Given the description of an element on the screen output the (x, y) to click on. 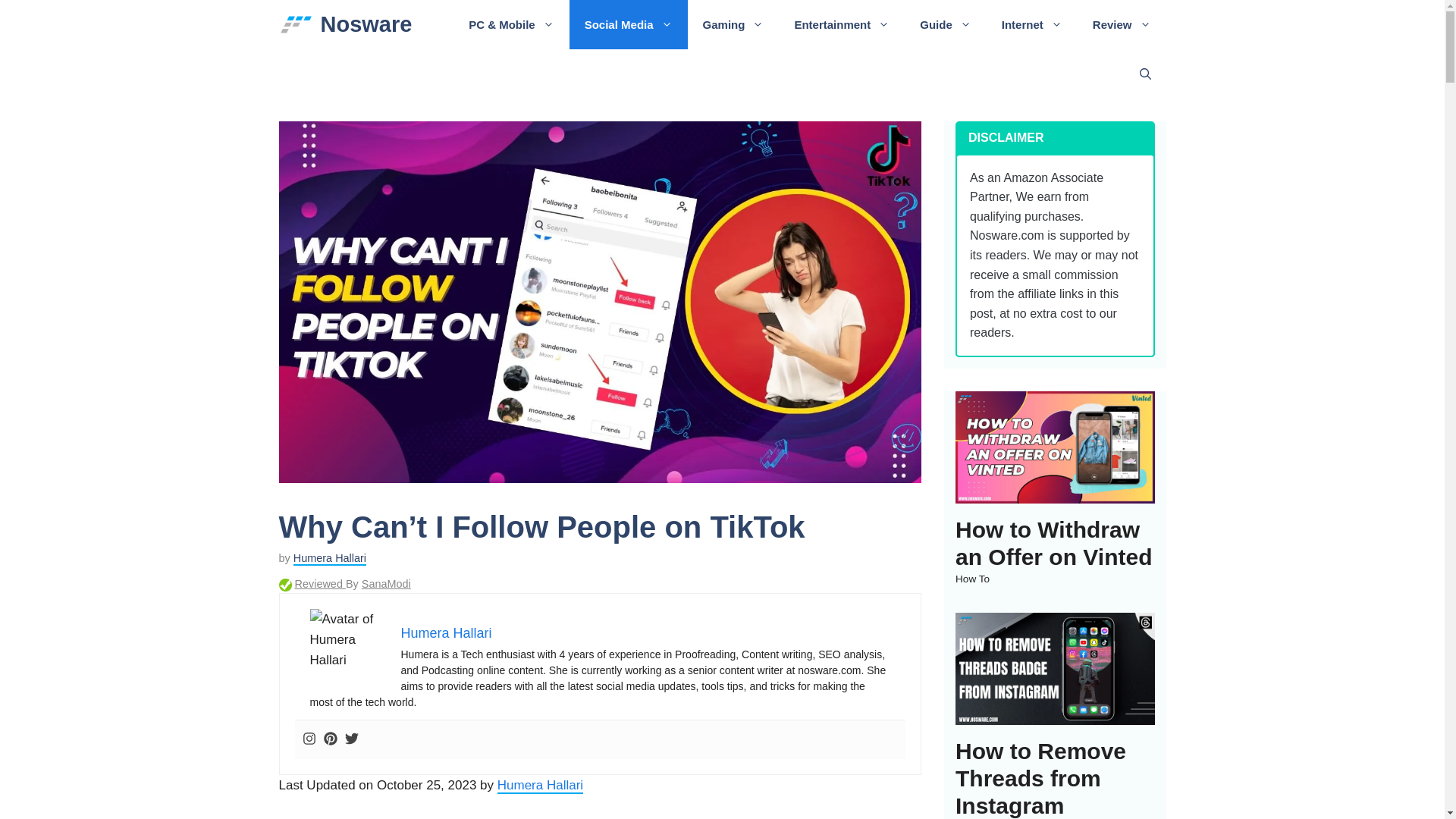
Gaming (732, 24)
How to Withdraw an Offer on Vinted (1054, 492)
How to Withdraw an Offer on Vinted 3 (1054, 447)
Review (1121, 24)
Nosware (366, 24)
Guide (945, 24)
View all posts by Humera Hallari (330, 558)
Internet (1032, 24)
Entertainment (841, 24)
Social Media (628, 24)
Why Can't I Follow People on TikTok 2 (346, 639)
